Given the description of an element on the screen output the (x, y) to click on. 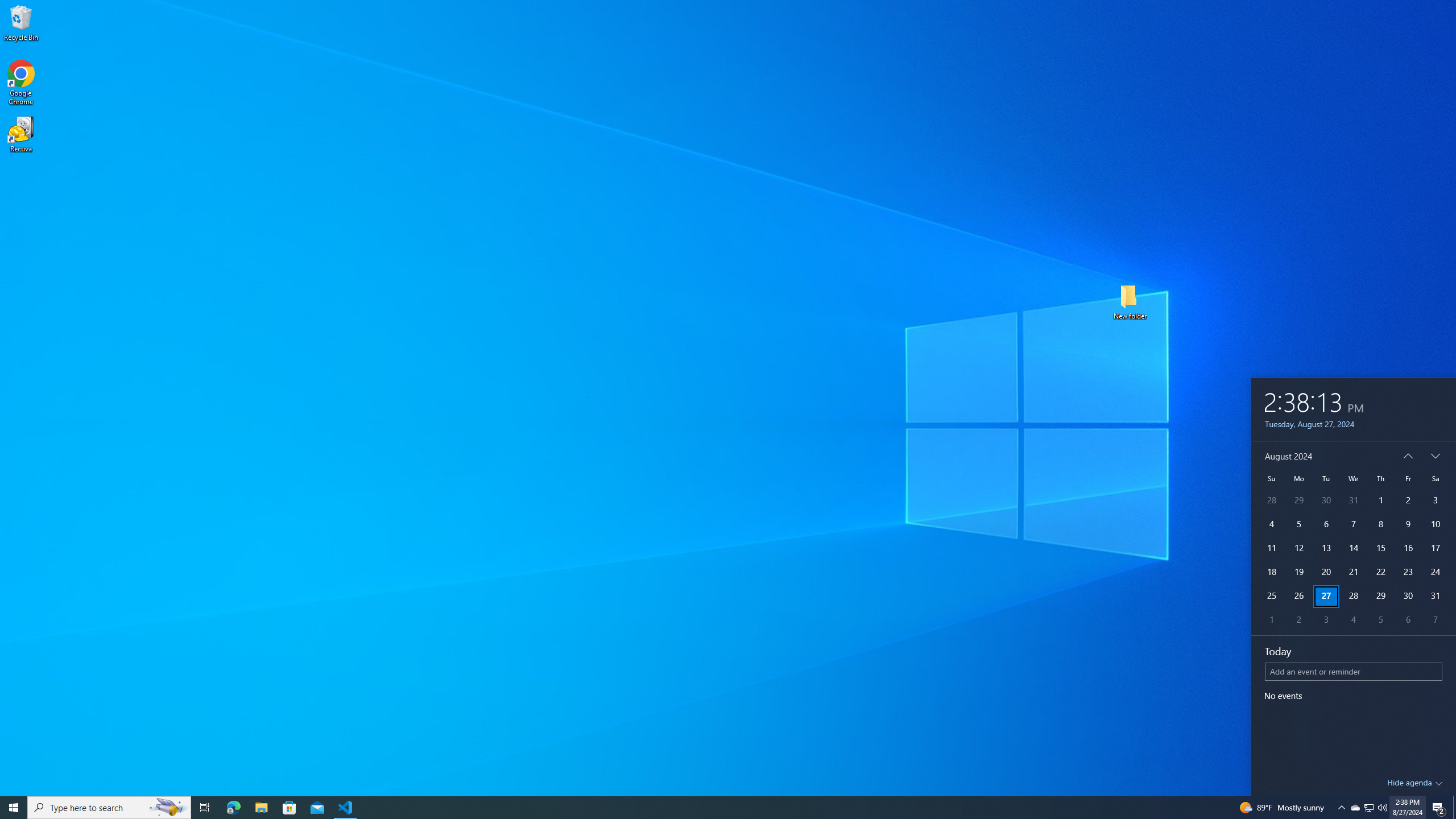
Search highlights icon opens search home window (167, 807)
10 (1435, 524)
21 (1353, 572)
22 (1380, 572)
18 (1270, 572)
12 (1298, 548)
File Explorer (261, 807)
Task View (204, 807)
17 (1435, 548)
20 (1326, 572)
13 (1326, 548)
Start (13, 807)
Microsoft Store (289, 807)
